Given the description of an element on the screen output the (x, y) to click on. 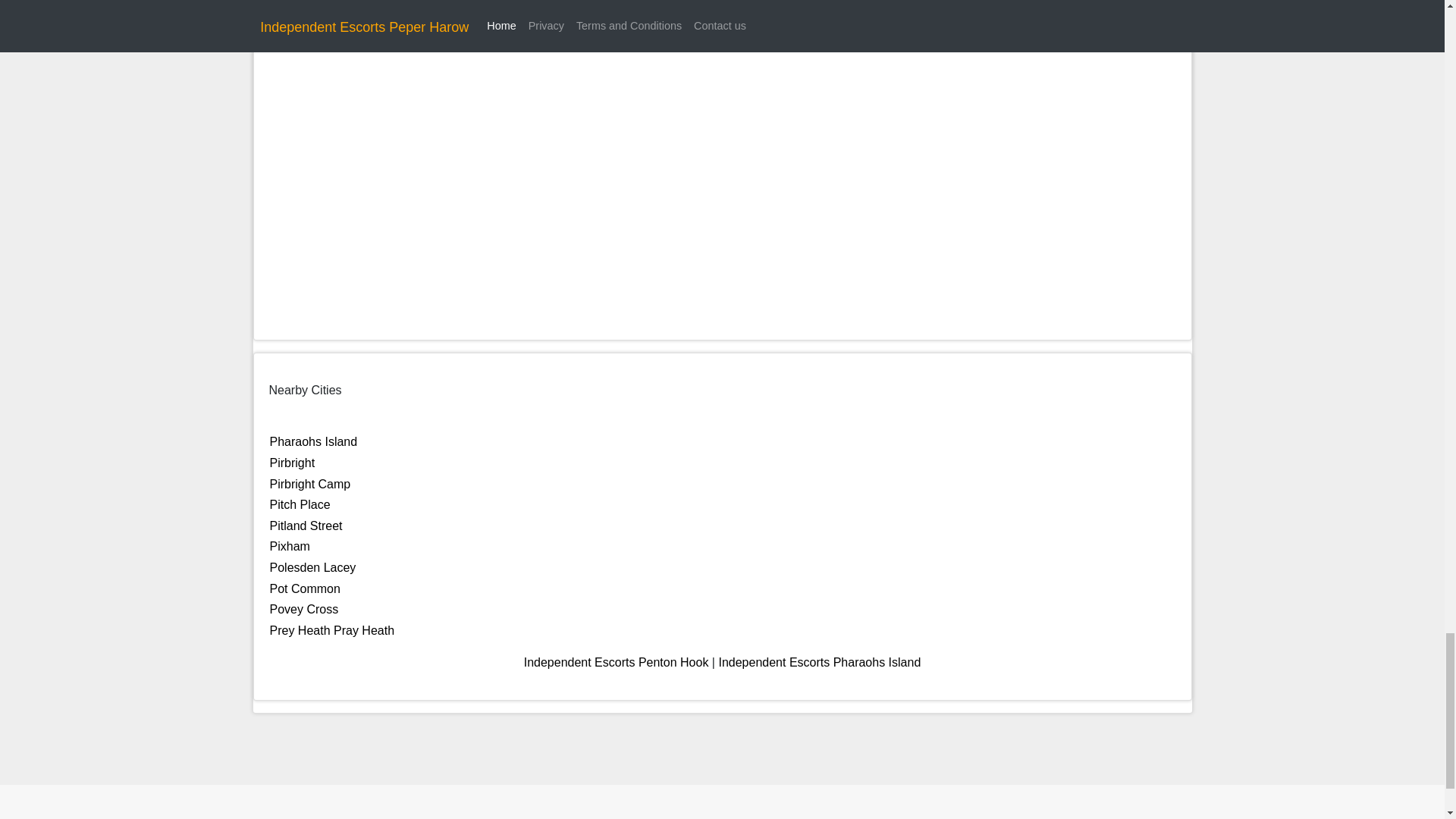
Pharaohs Island (313, 440)
Pitch Place (299, 504)
Independent Escorts Pharaohs Island (818, 662)
Pitland Street (305, 525)
Povey Cross (304, 608)
Pirbright Camp (309, 483)
Polesden Lacey (312, 567)
Independent Escorts Penton Hook (616, 662)
Pirbright (292, 462)
Pixham (289, 545)
